Given the description of an element on the screen output the (x, y) to click on. 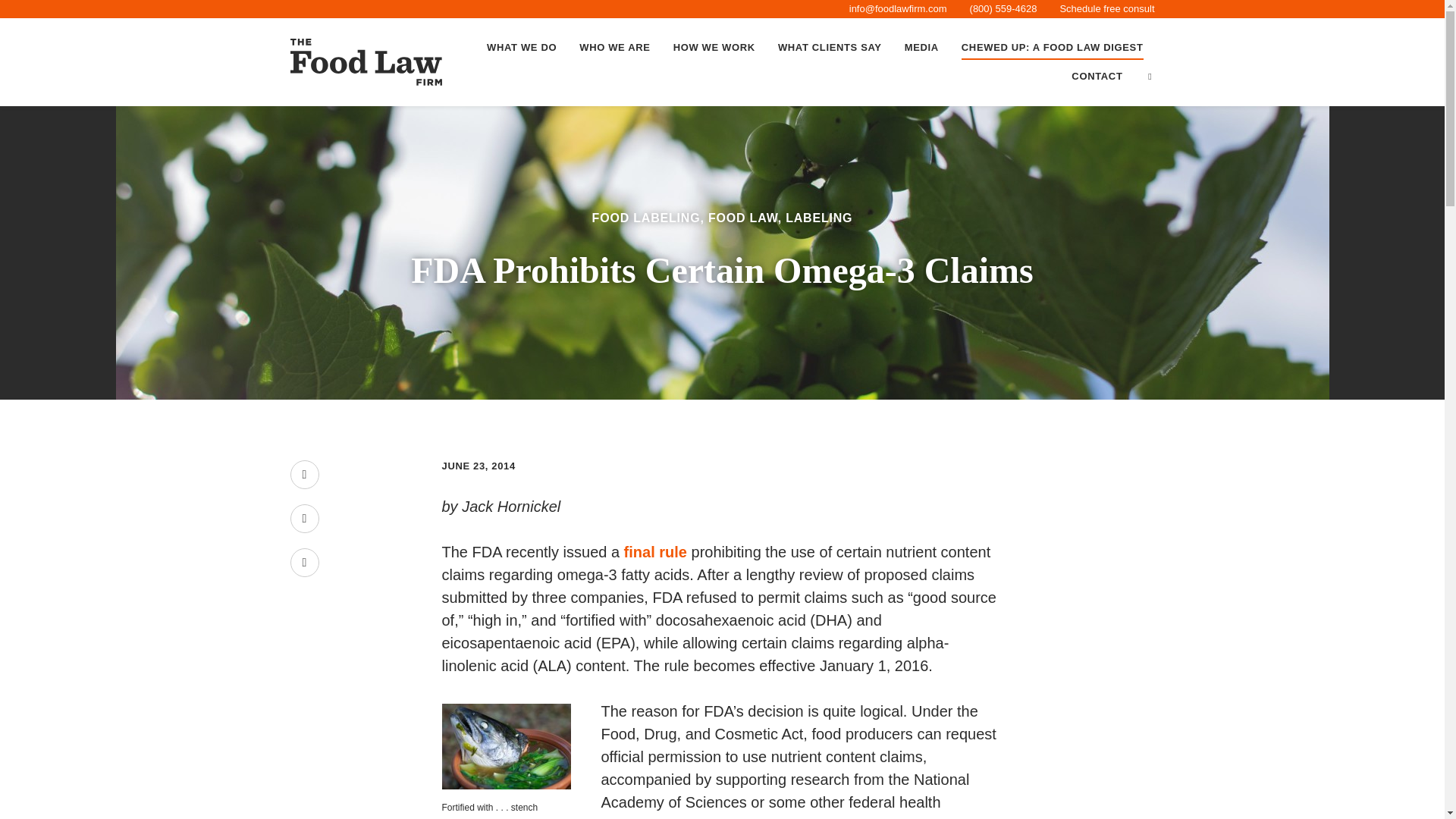
MEDIA (921, 47)
Facebook (303, 474)
WHAT WE DO (521, 47)
Email (303, 562)
Schedule free consult (1106, 8)
WHO WE ARE (614, 47)
Twitter (303, 518)
FOOD LABELING (646, 217)
CONTACT (1096, 76)
Search (1150, 76)
final rule (655, 551)
HOW WE WORK (714, 47)
WHAT CLIENTS SAY (830, 47)
LABELING (818, 217)
FOOD LAW (742, 217)
